Given the description of an element on the screen output the (x, y) to click on. 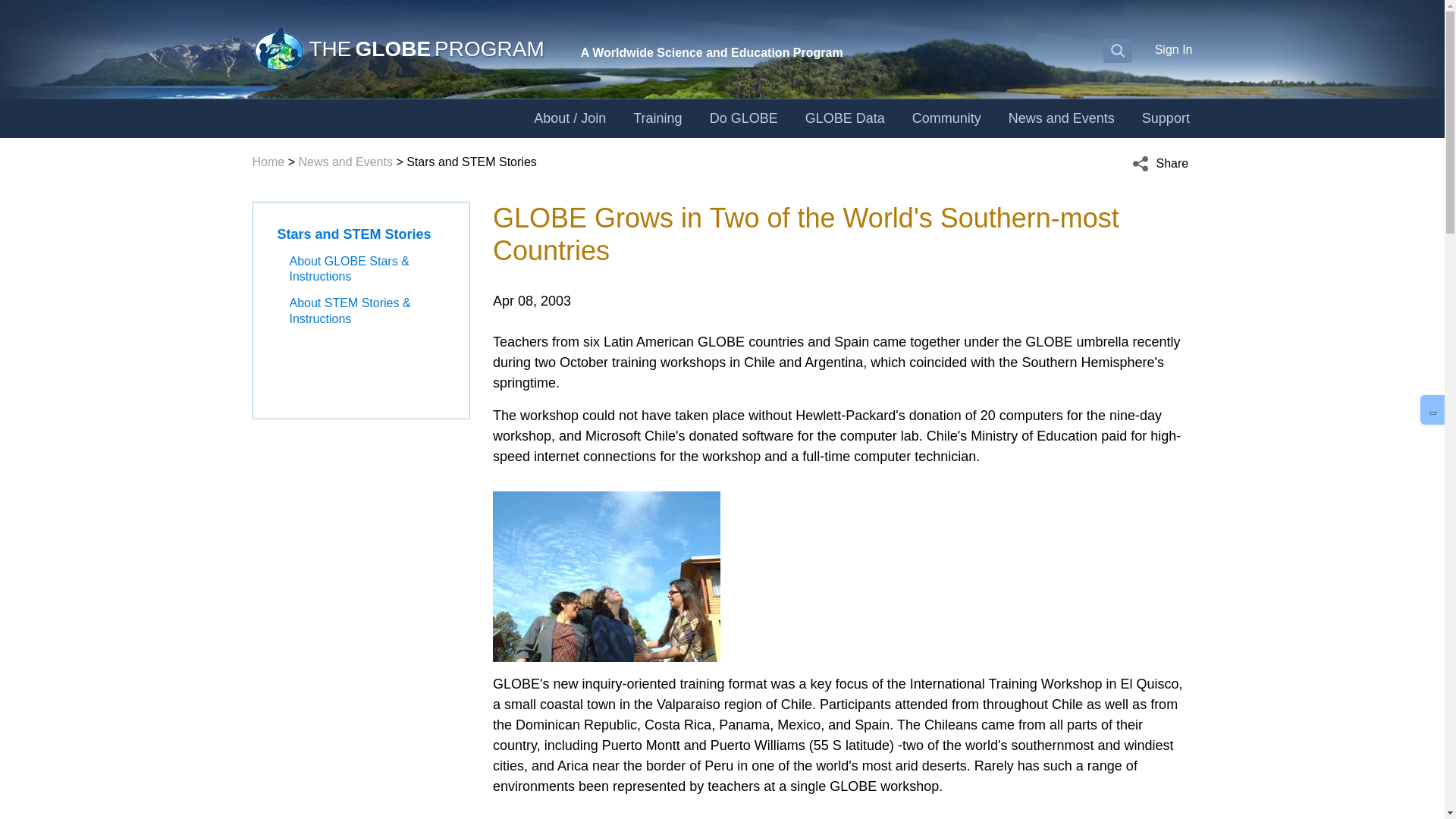
Sign In (1173, 48)
THE GLOBE PROGRAM (397, 48)
Go to GLOBE.gov (397, 48)
